Given the description of an element on the screen output the (x, y) to click on. 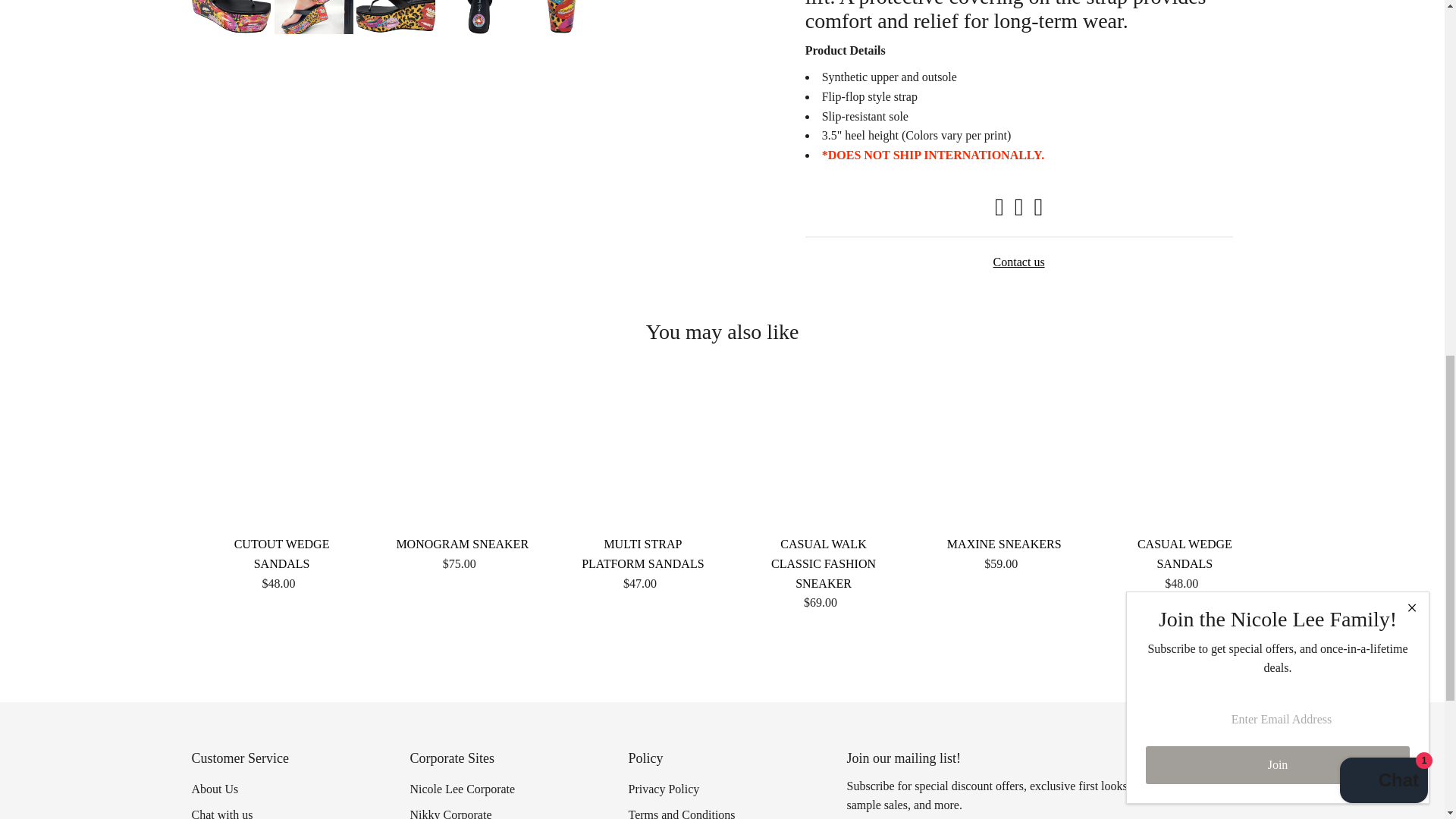
CASUAL WALK CLASSIC FASHION SNEAKER (823, 456)
MAXINE SNEAKERS (1004, 456)
CUTOUT WEDGE SANDALS (280, 456)
MULTI STRAP PLATFORM SANDALS (643, 456)
CASUAL WEDGE SANDALS (1184, 456)
MONOGRAM SNEAKER (462, 456)
